Given the description of an element on the screen output the (x, y) to click on. 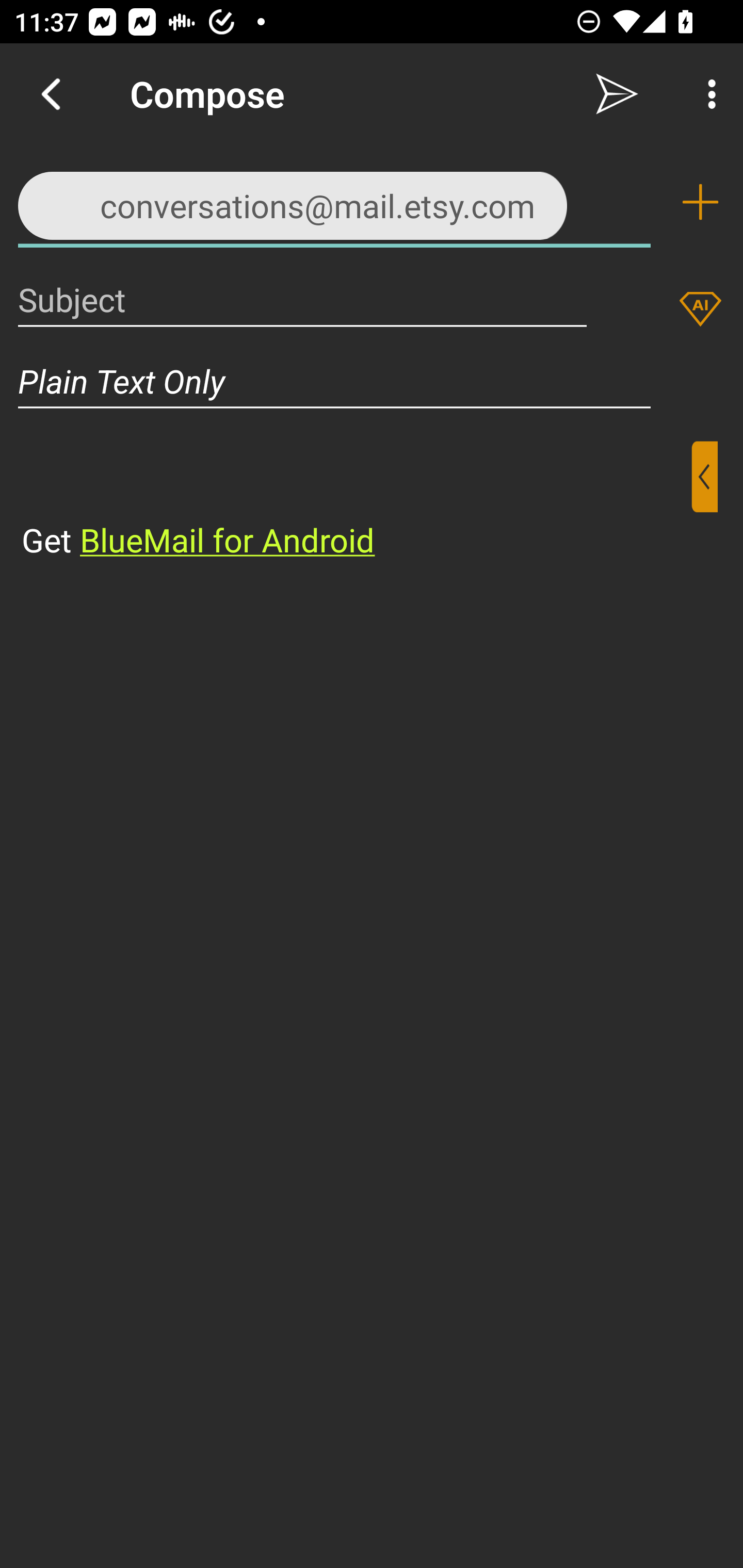
Navigate up (50, 93)
Send (616, 93)
More Options (706, 93)
<conversations@mail.etsy.com>,  (334, 201)
Add recipient (To) (699, 201)
Subject (302, 299)
Plain Text Only (371, 380)


⁣Get BlueMail for Android ​ (355, 501)
